Given the description of an element on the screen output the (x, y) to click on. 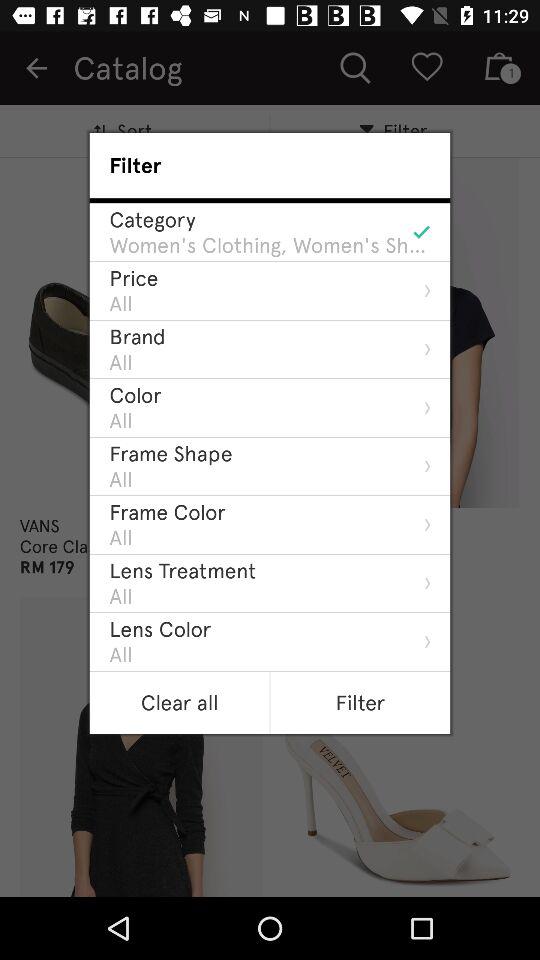
choose icon at the center (182, 570)
